Given the description of an element on the screen output the (x, y) to click on. 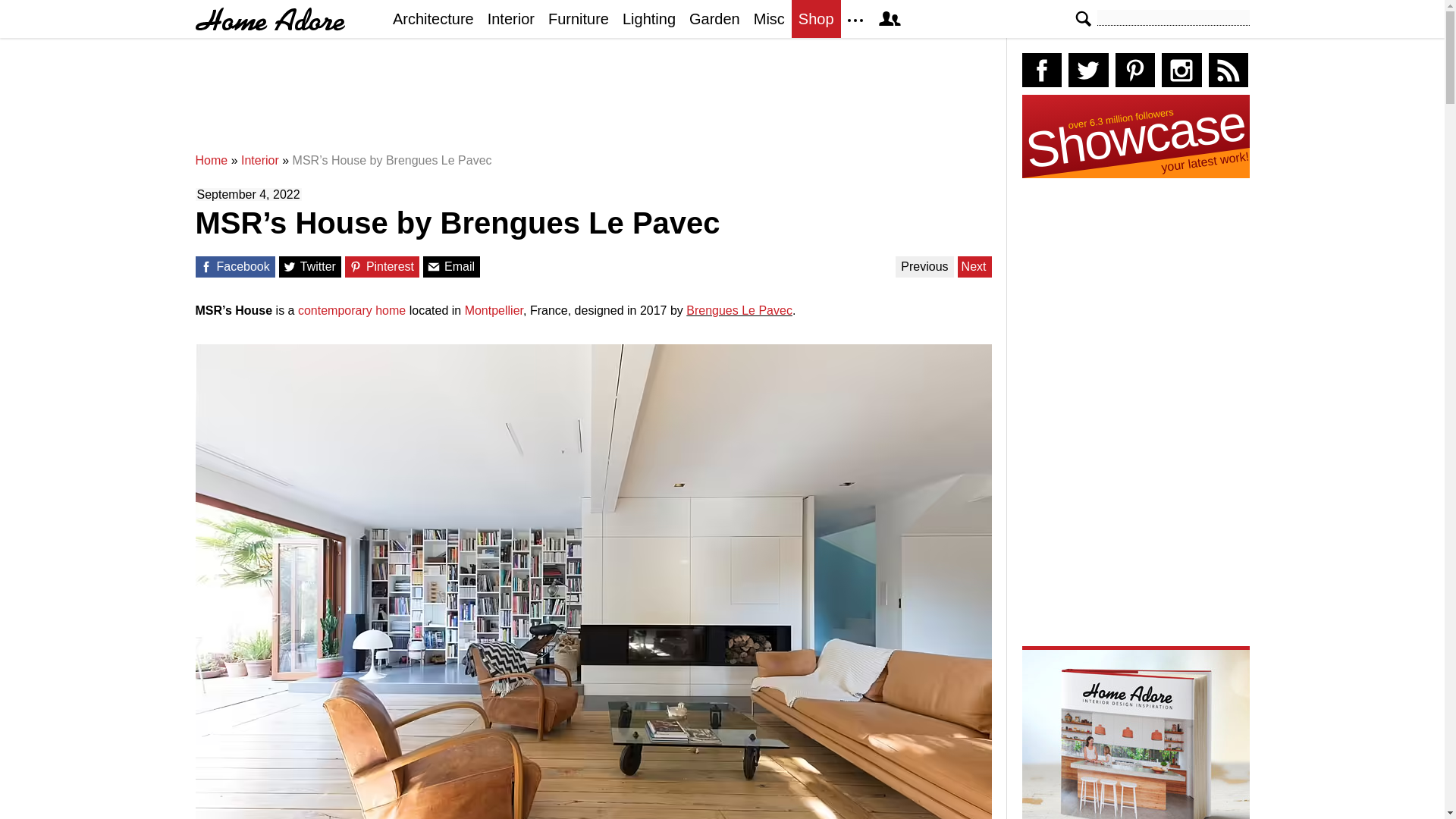
Share on Pinterest (355, 266)
Interior (510, 18)
HomeAdore (270, 19)
Share on Twitter (289, 266)
Advertisement (596, 101)
Misc (769, 18)
Share with a Friend (433, 266)
Lighting (648, 18)
Home (211, 160)
Home (211, 160)
